Given the description of an element on the screen output the (x, y) to click on. 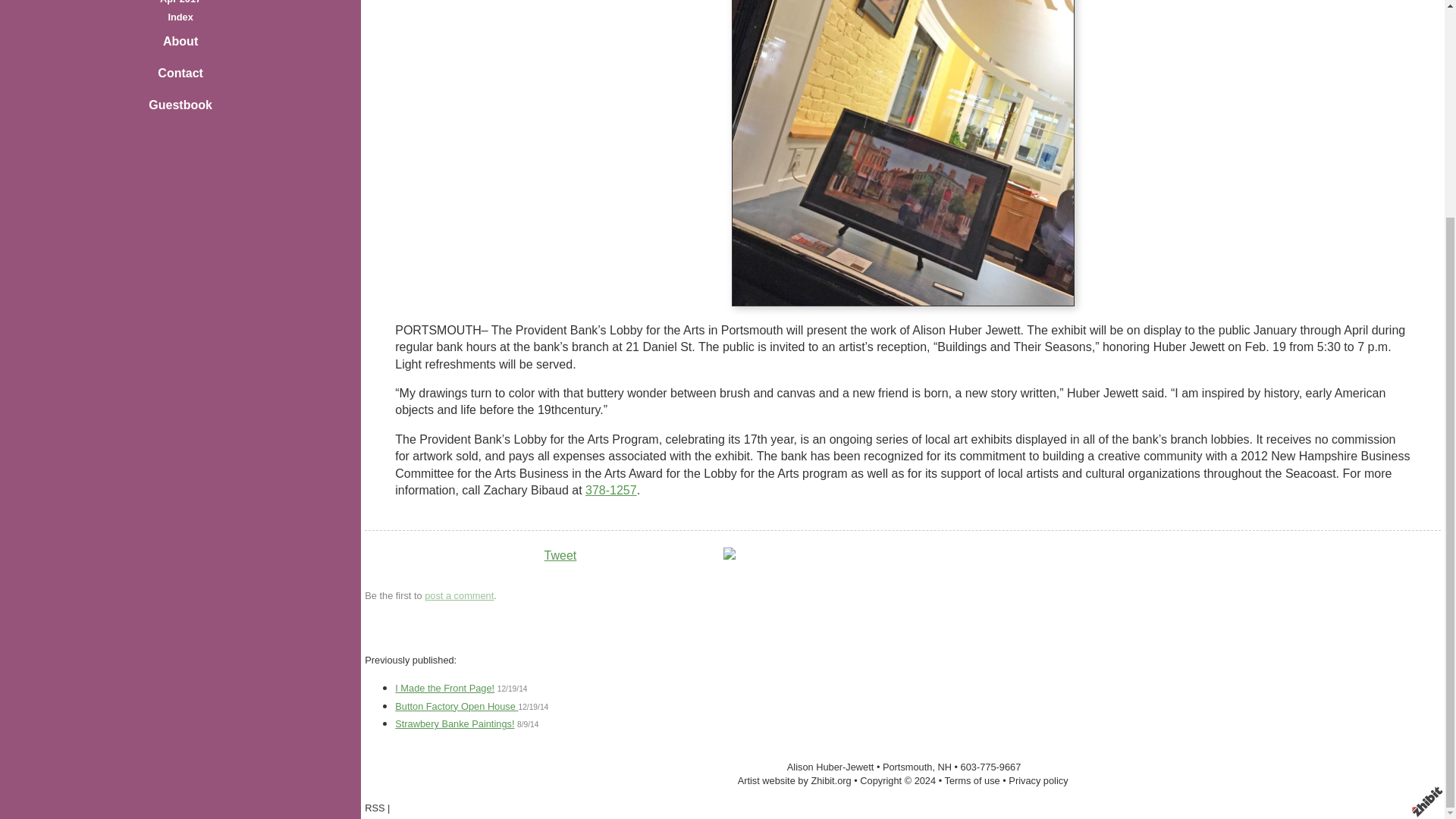
Tweet (560, 554)
378-1257 (611, 490)
post a comment (459, 595)
Guestbook (180, 104)
I Made the Front Page! (444, 687)
Apr 2017 (180, 2)
Button Factory Open House (456, 706)
About (180, 41)
Index (179, 16)
Contact (180, 72)
